Given the description of an element on the screen output the (x, y) to click on. 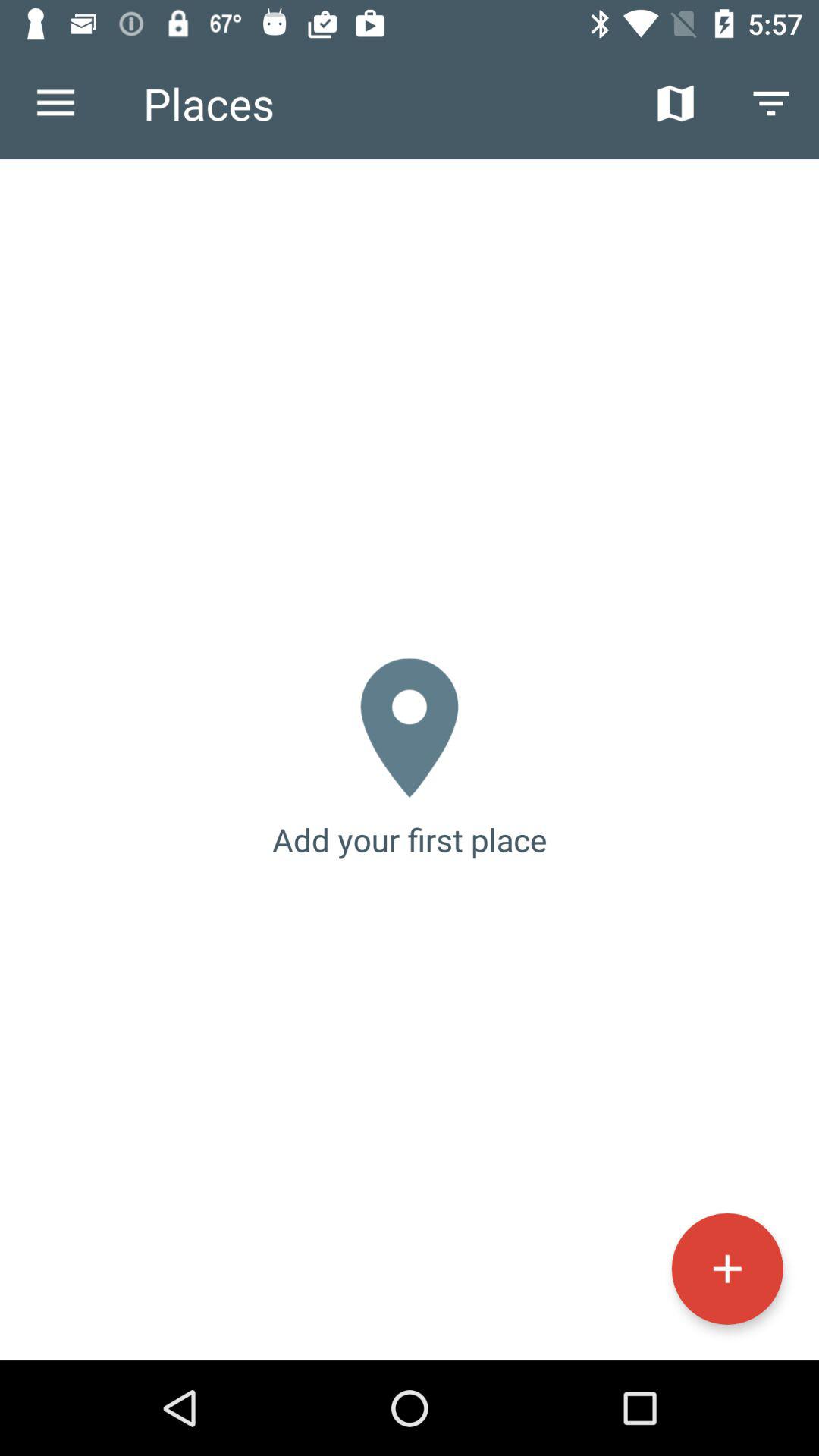
add information (727, 1268)
